Given the description of an element on the screen output the (x, y) to click on. 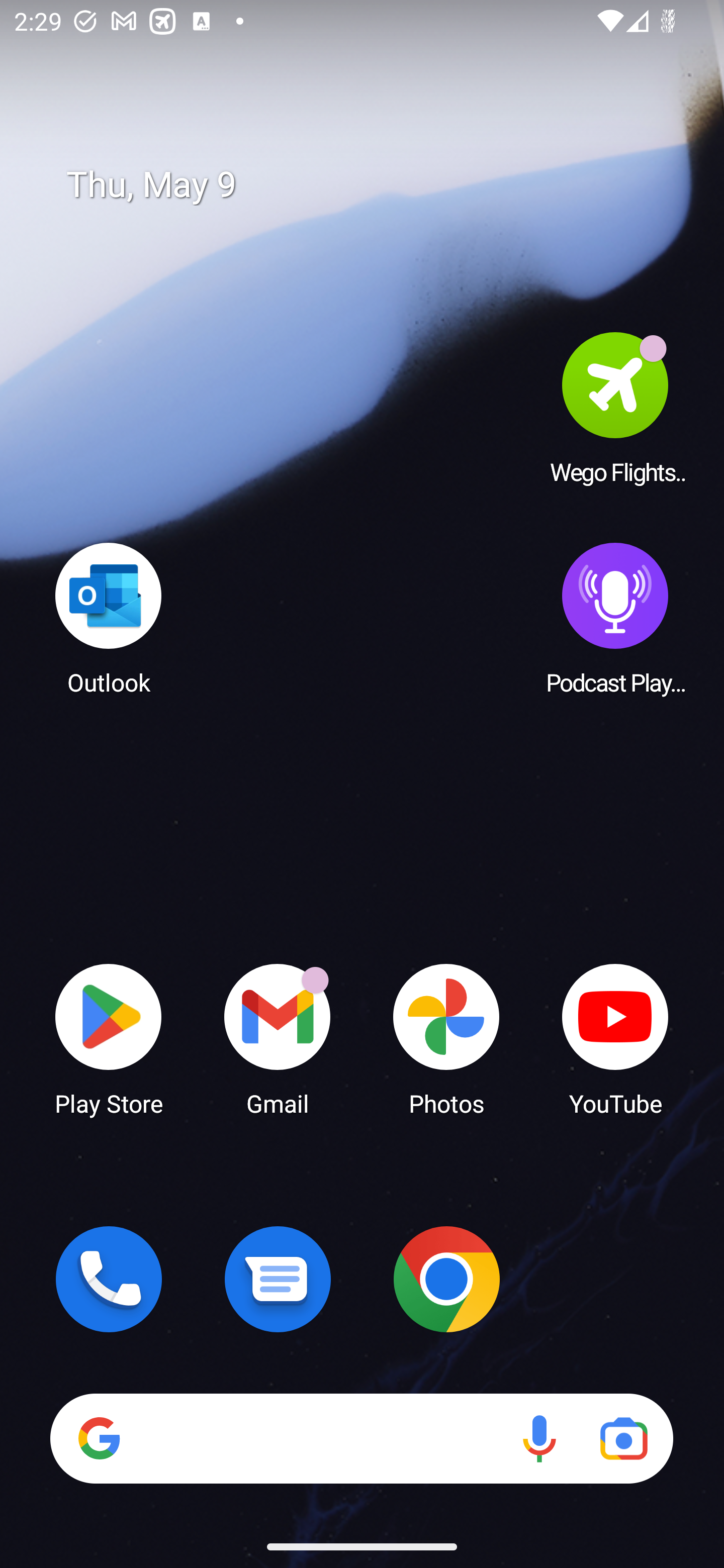
Thu, May 9 (375, 184)
Outlook (108, 617)
Podcast Player (615, 617)
Play Store (108, 1038)
Gmail Gmail has 18 notifications (277, 1038)
Photos (445, 1038)
YouTube (615, 1038)
Phone (108, 1279)
Messages (277, 1279)
Chrome (446, 1279)
Search Voice search Google Lens (361, 1438)
Voice search (539, 1438)
Google Lens (623, 1438)
